Given the description of an element on the screen output the (x, y) to click on. 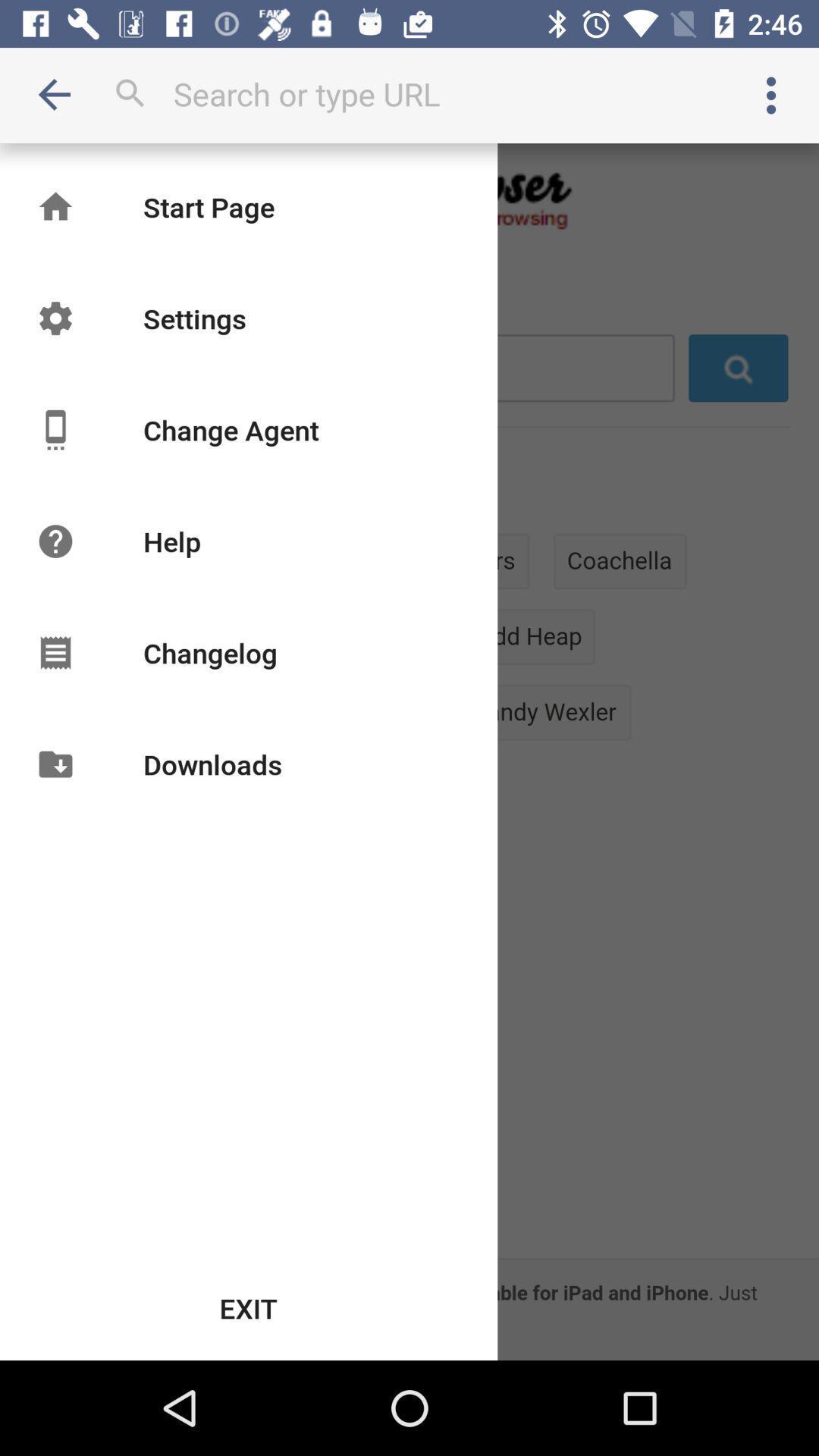
flip to the downloads item (212, 764)
